Given the description of an element on the screen output the (x, y) to click on. 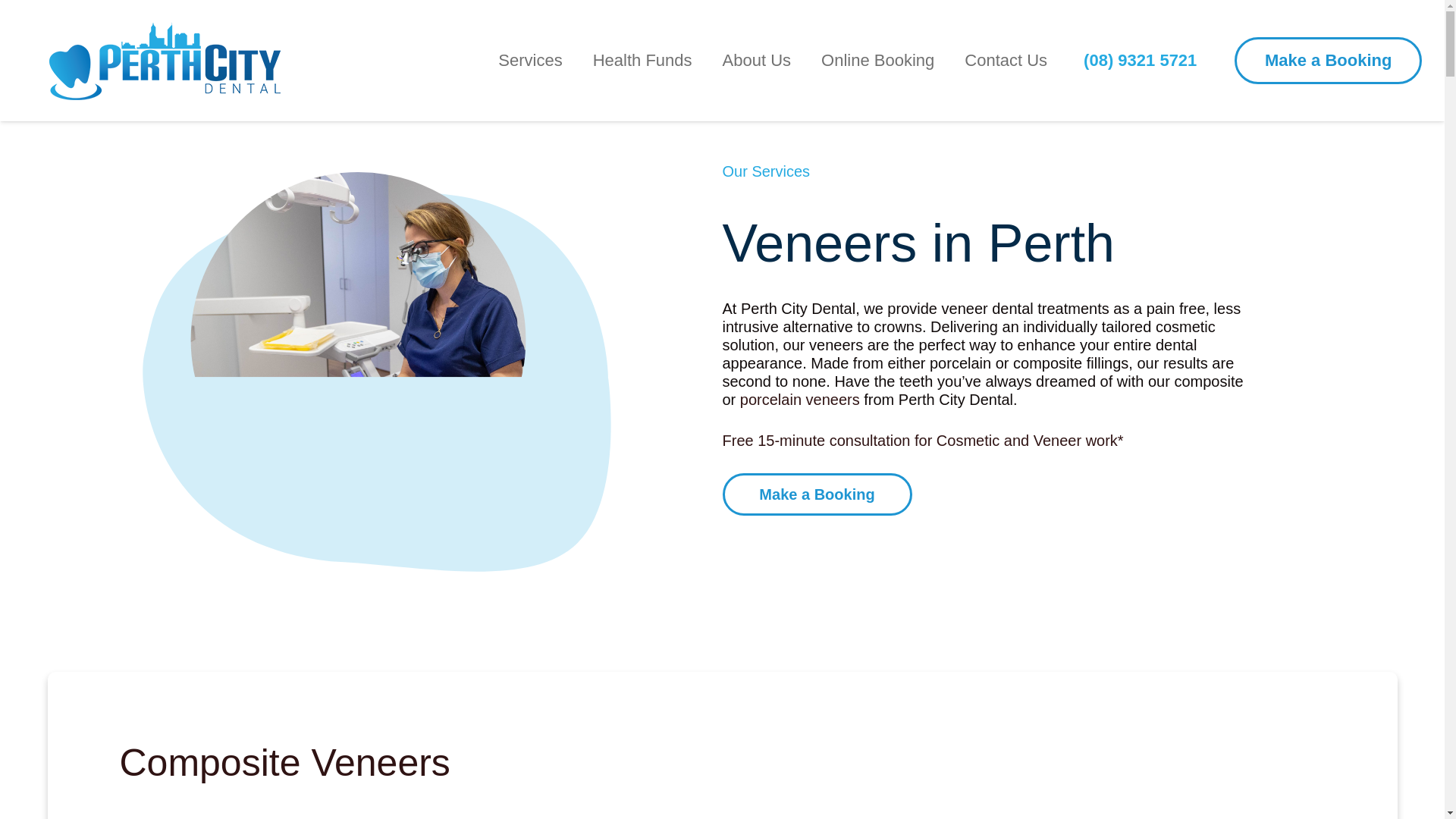
Contact Us (1005, 60)
Health Funds (642, 60)
Make a Booking (816, 494)
porcelain veneers (799, 399)
Online Booking (877, 60)
Make a Booking (1328, 60)
Composite Veneers (284, 762)
